Given the description of an element on the screen output the (x, y) to click on. 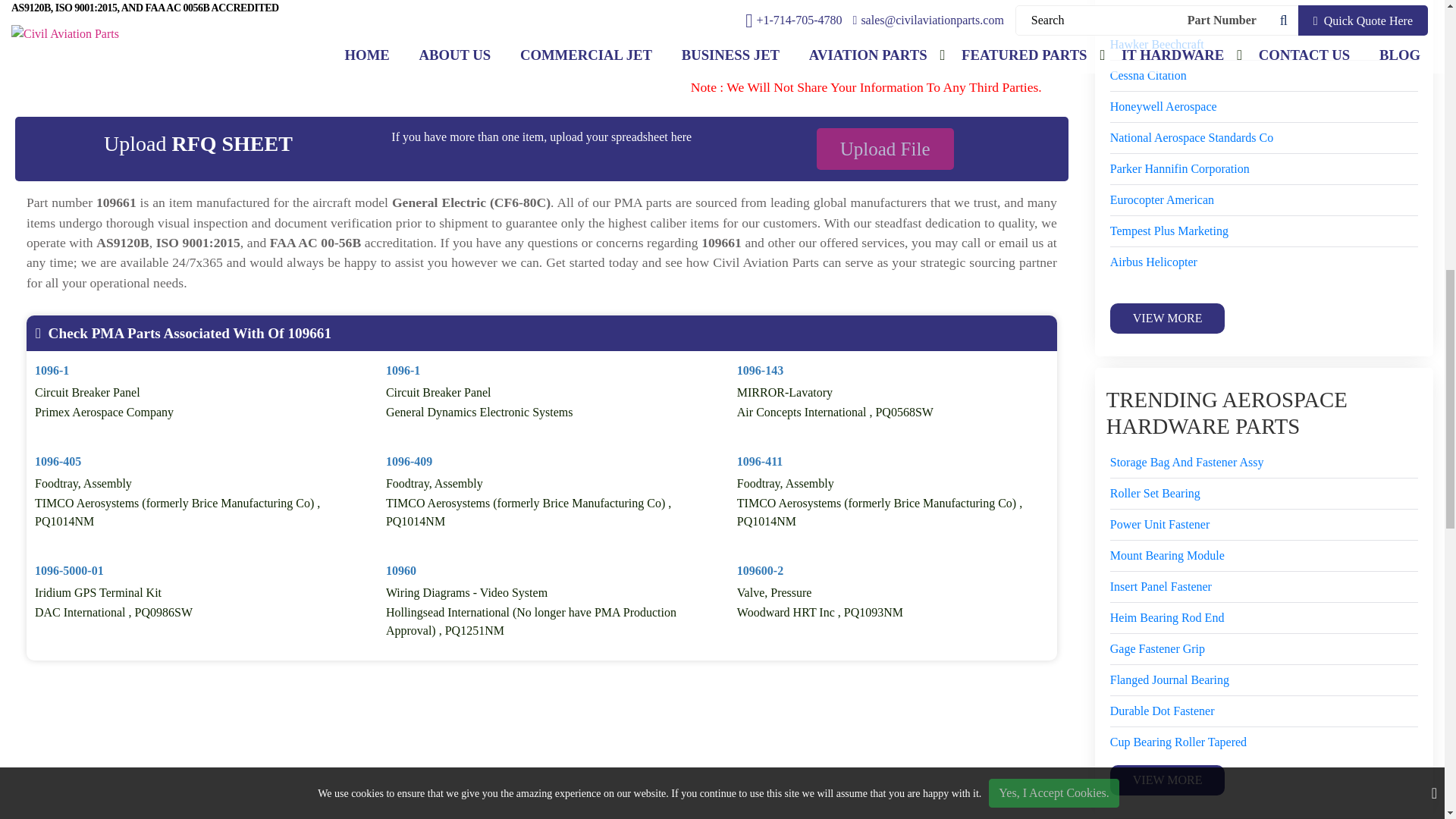
1096-1 (51, 369)
Hawker Beechcraft (1156, 45)
RFQ disclaimer (541, 32)
Honeywell Aerospace (1163, 106)
Zodiac Avox (1191, 137)
Tempest Plus Marketing (1168, 230)
Eurocopter American (1161, 199)
Airbus Helicopter (1152, 262)
Upload File (884, 148)
Cessna Citation (1147, 75)
Raytheon Co (1141, 13)
Parker Hannifin Corporation (1179, 168)
